Given the description of an element on the screen output the (x, y) to click on. 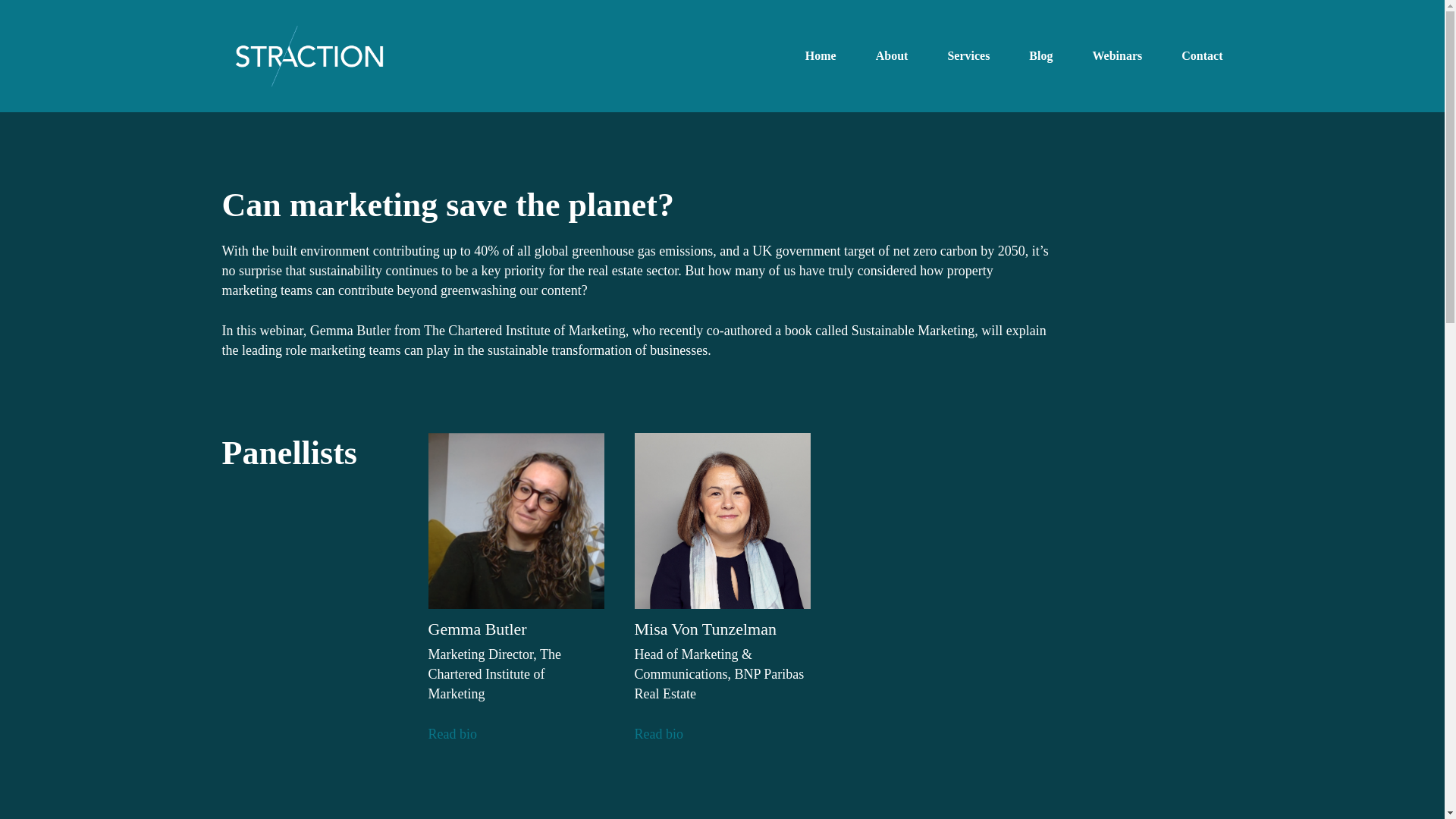
About (892, 55)
Read bio (452, 734)
Contact (1201, 55)
Services (968, 55)
Webinars (1116, 55)
Blog (1040, 55)
Read bio (657, 734)
Home (820, 55)
